Given the description of an element on the screen output the (x, y) to click on. 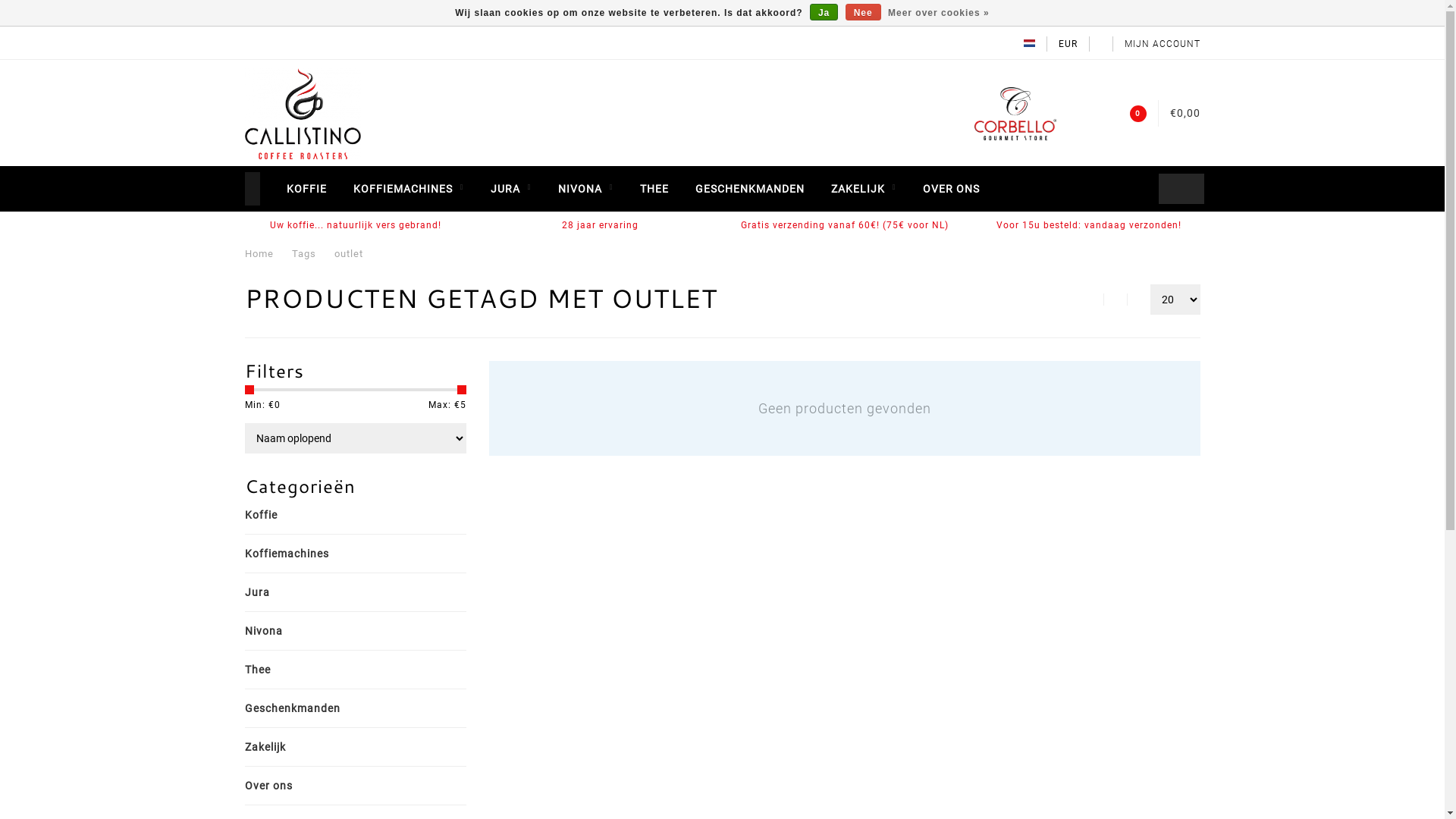
THEE Element type: text (654, 188)
GESCHENKMANDEN Element type: text (748, 188)
Thee Element type: text (268, 669)
ZAKELIJK Element type: text (863, 188)
Tags Element type: text (303, 253)
Ja Element type: text (823, 11)
Nee Element type: text (863, 11)
JURA Element type: text (509, 188)
KOFFIEMACHINES Element type: text (408, 188)
KOFFIE Element type: text (306, 188)
EUR Element type: text (1067, 43)
outlet Element type: text (347, 253)
Nivona Element type: text (274, 630)
MIJN ACCOUNT Element type: text (1161, 43)
Over ons Element type: text (279, 785)
Koffiemachines Element type: text (297, 553)
NIVONA Element type: text (585, 188)
OVER ONS Element type: text (950, 188)
Home Element type: text (258, 253)
Jura Element type: text (267, 591)
Zakelijk Element type: text (275, 746)
Geschenkmanden Element type: text (303, 707)
Koffie Element type: text (271, 514)
